Given the description of an element on the screen output the (x, y) to click on. 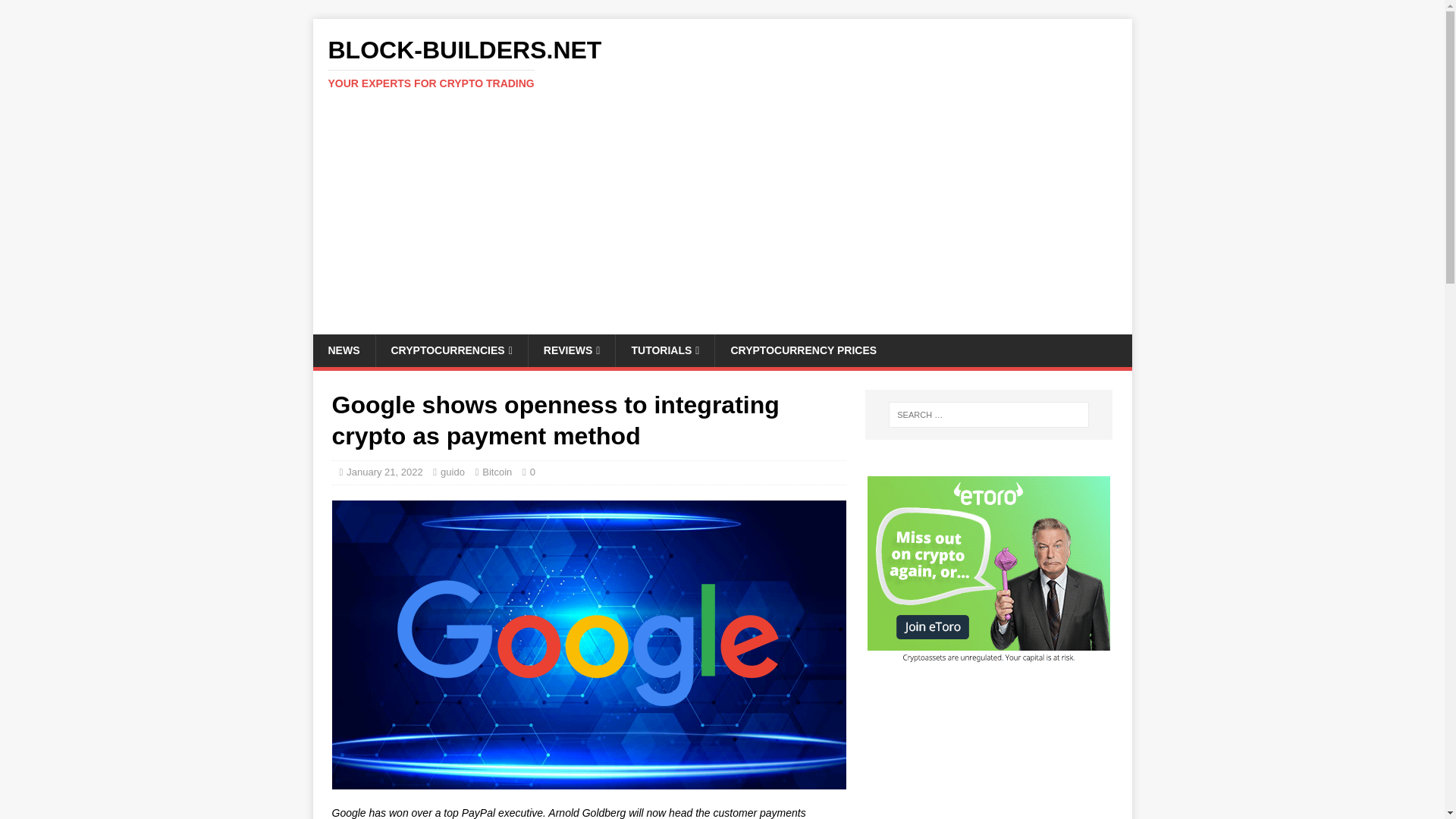
REVIEWS (571, 350)
Advertisement (721, 63)
0 (450, 350)
Block-builders.net (532, 471)
TUTORIALS (721, 63)
NEWS (664, 350)
